Given the description of an element on the screen output the (x, y) to click on. 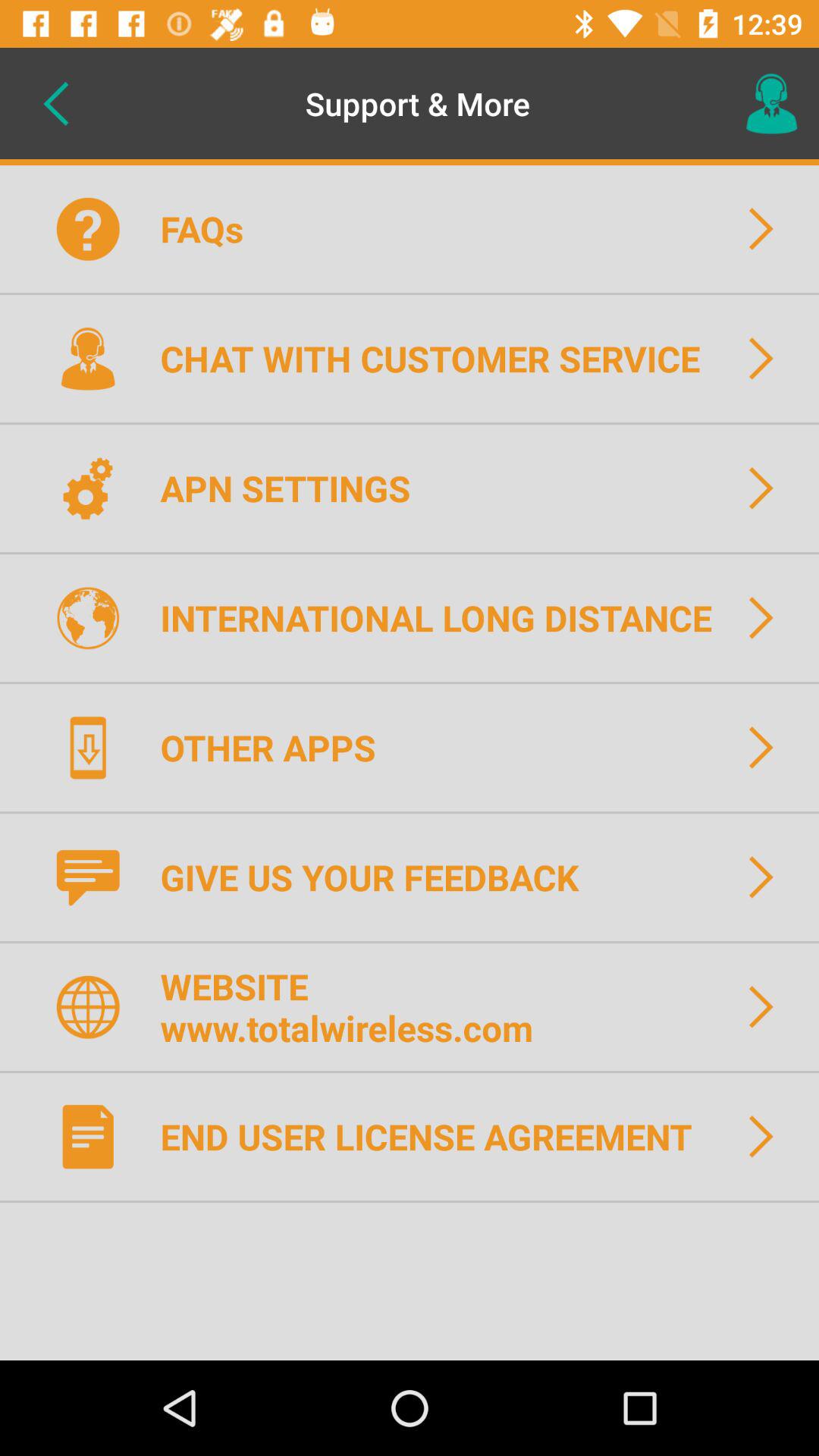
swipe to give us your item (379, 877)
